Given the description of an element on the screen output the (x, y) to click on. 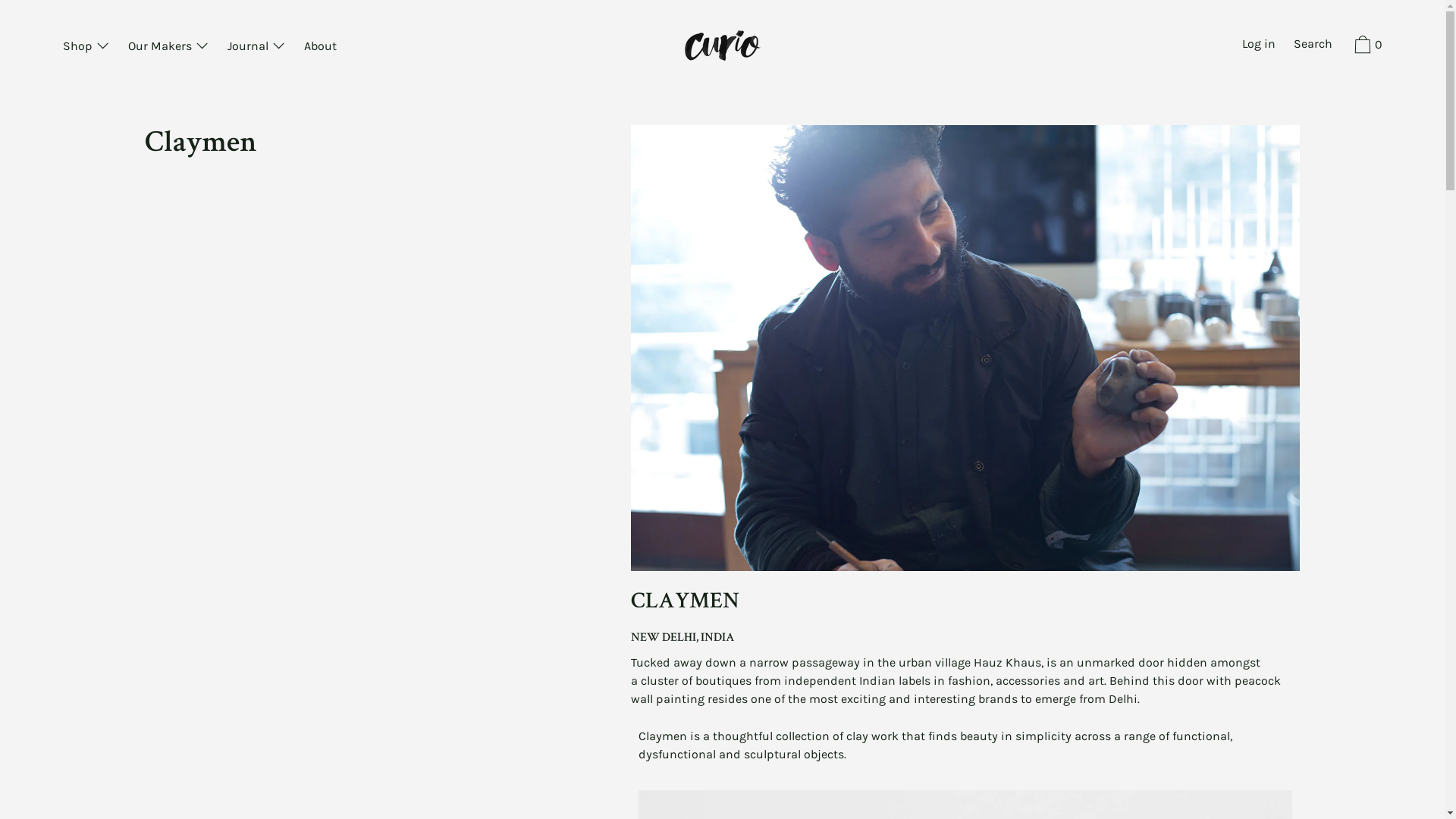
Log in Element type: text (1258, 45)
About Element type: text (320, 47)
Our Makers Element type: text (168, 47)
Journal Element type: text (256, 47)
Search Element type: text (1312, 45)
Shop Element type: text (85, 47)
0 Element type: text (1366, 46)
